Given the description of an element on the screen output the (x, y) to click on. 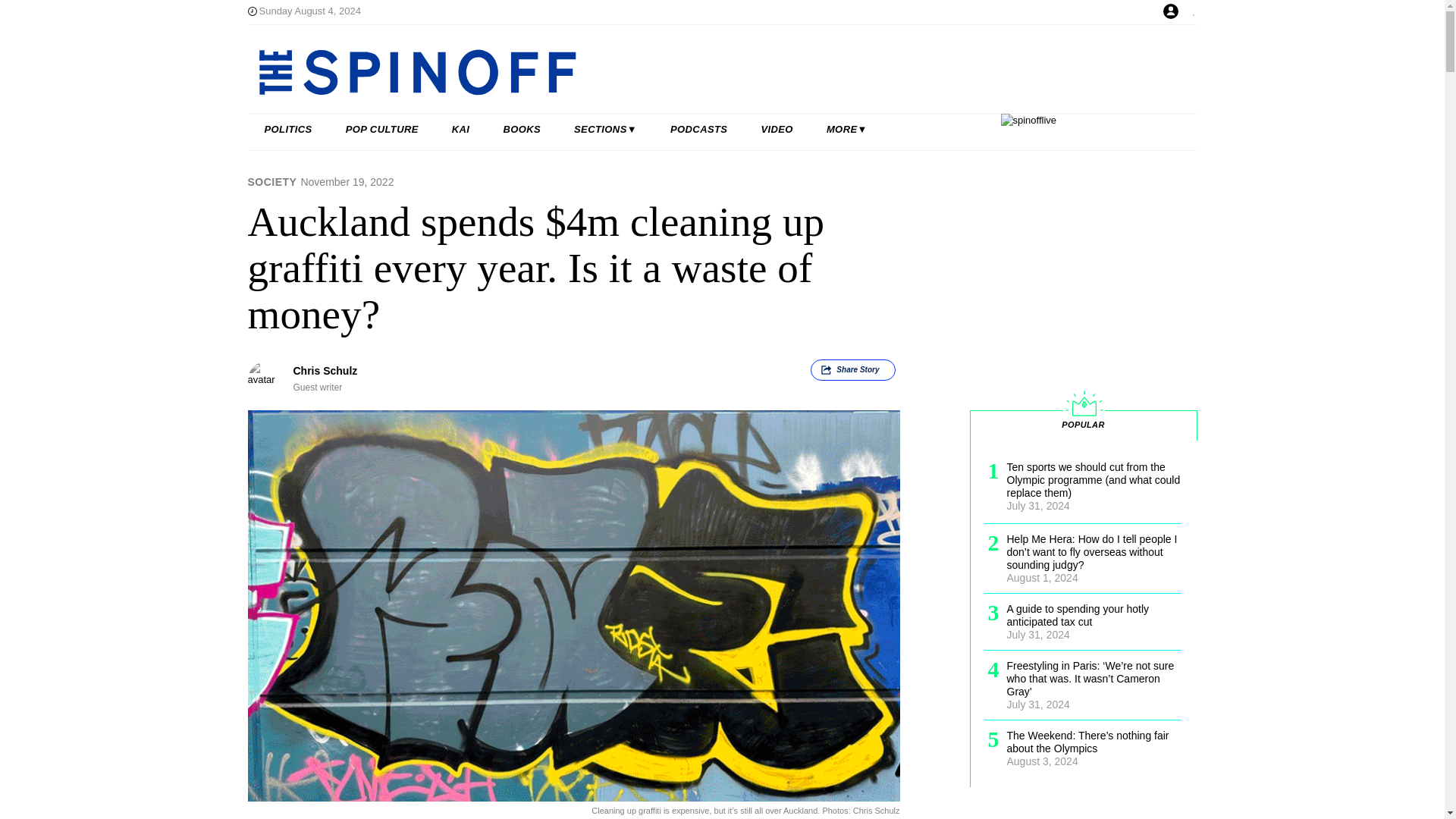
KAI (460, 129)
view all posts by Chris Schulz (324, 370)
POP CULTURE (382, 129)
MORE (846, 129)
SECTIONS (605, 129)
POLITICS (288, 129)
PODCASTS (698, 129)
VIDEO (776, 129)
BOOKS (521, 129)
The Spinoff (673, 72)
